Given the description of an element on the screen output the (x, y) to click on. 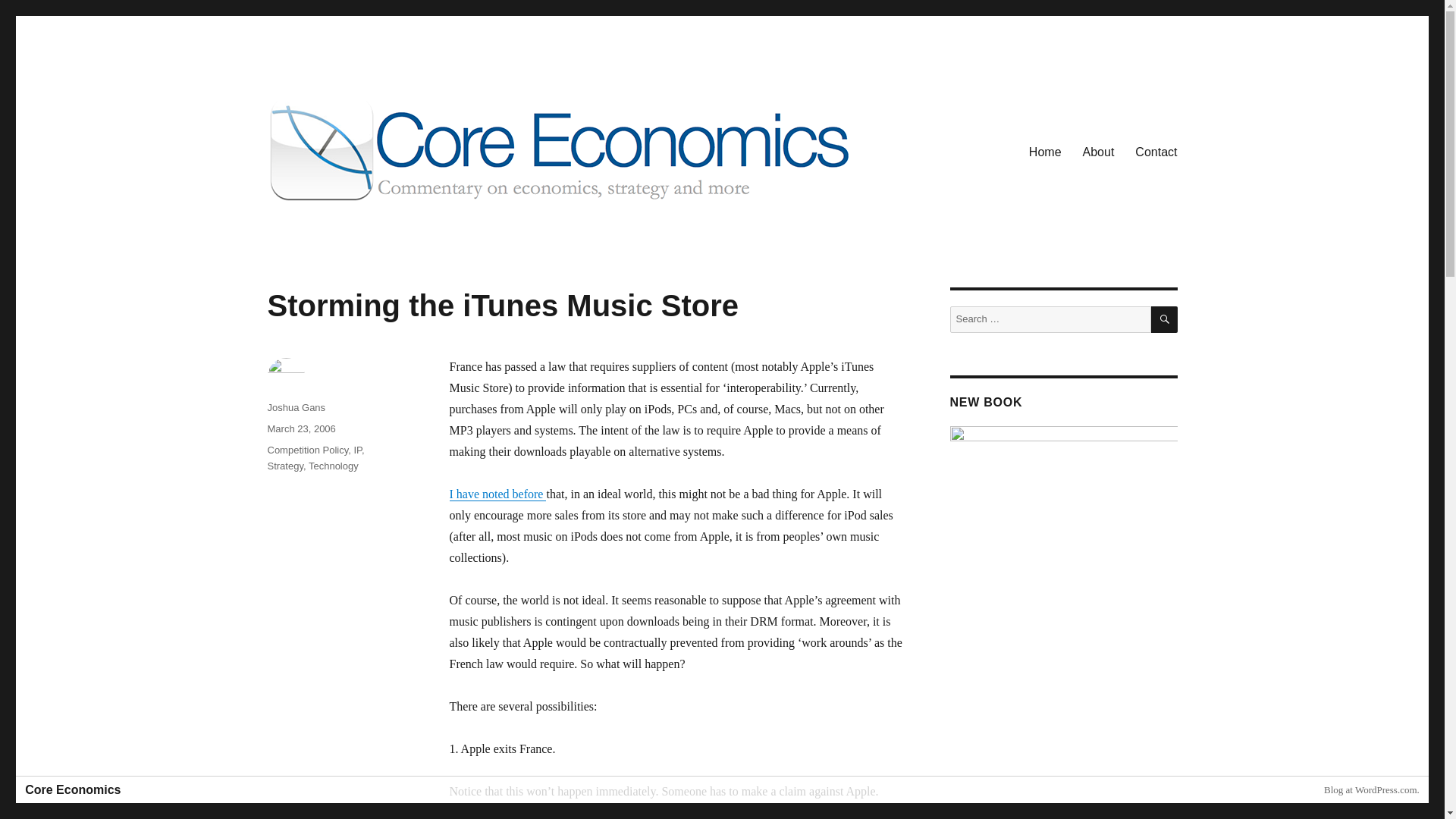
Technology (333, 465)
Joshua Gans (295, 407)
Competition Policy (306, 449)
March 23, 2006 (300, 428)
Strategy (284, 465)
Core Economics (349, 226)
Home (1044, 151)
About (1098, 151)
I have noted before (497, 493)
Contact (1156, 151)
